Given the description of an element on the screen output the (x, y) to click on. 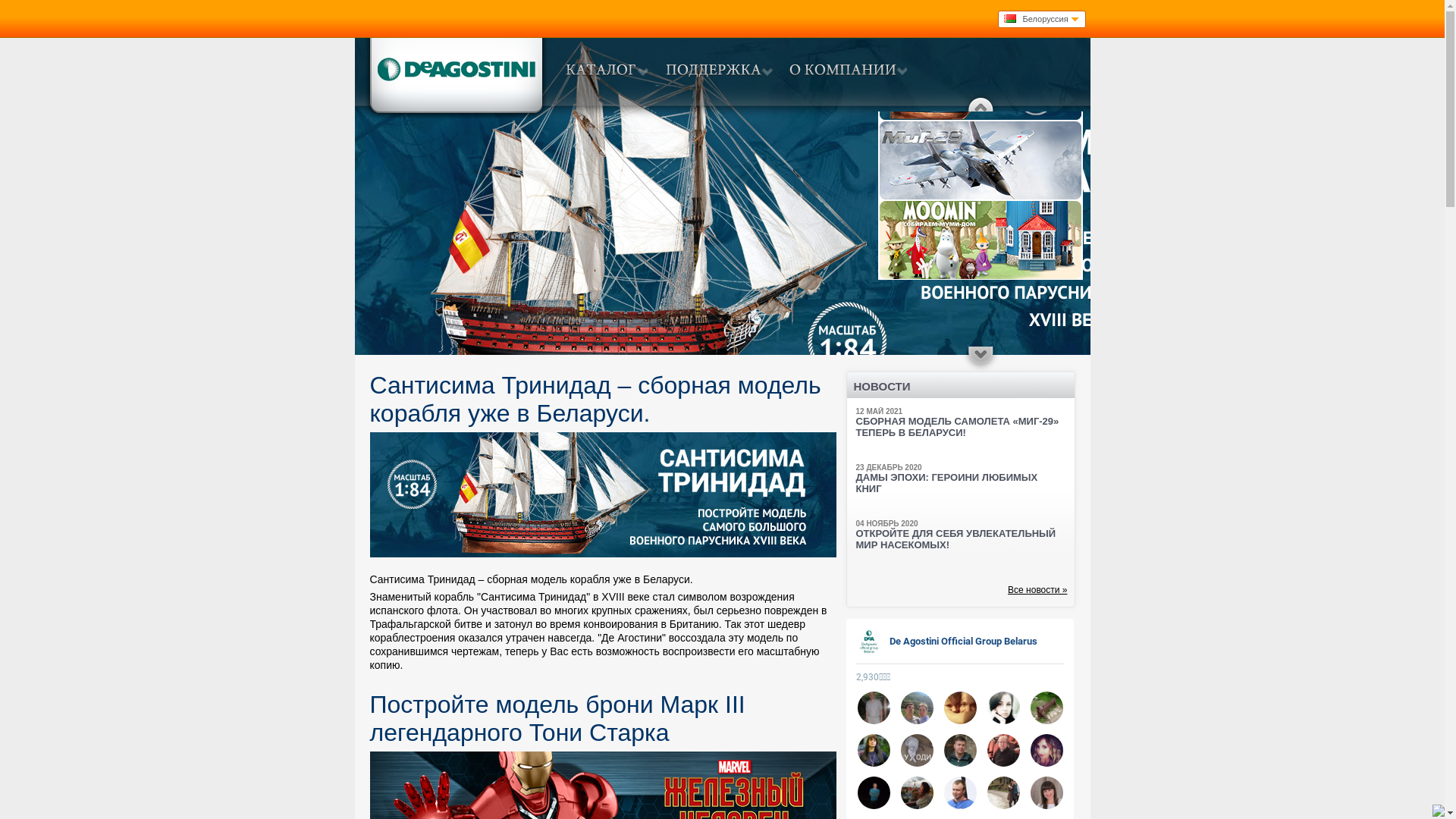
Scroll down Element type: text (980, 358)
DeAgostini Element type: hover (454, 77)
Scroll top Element type: text (980, 102)
